Given the description of an element on the screen output the (x, y) to click on. 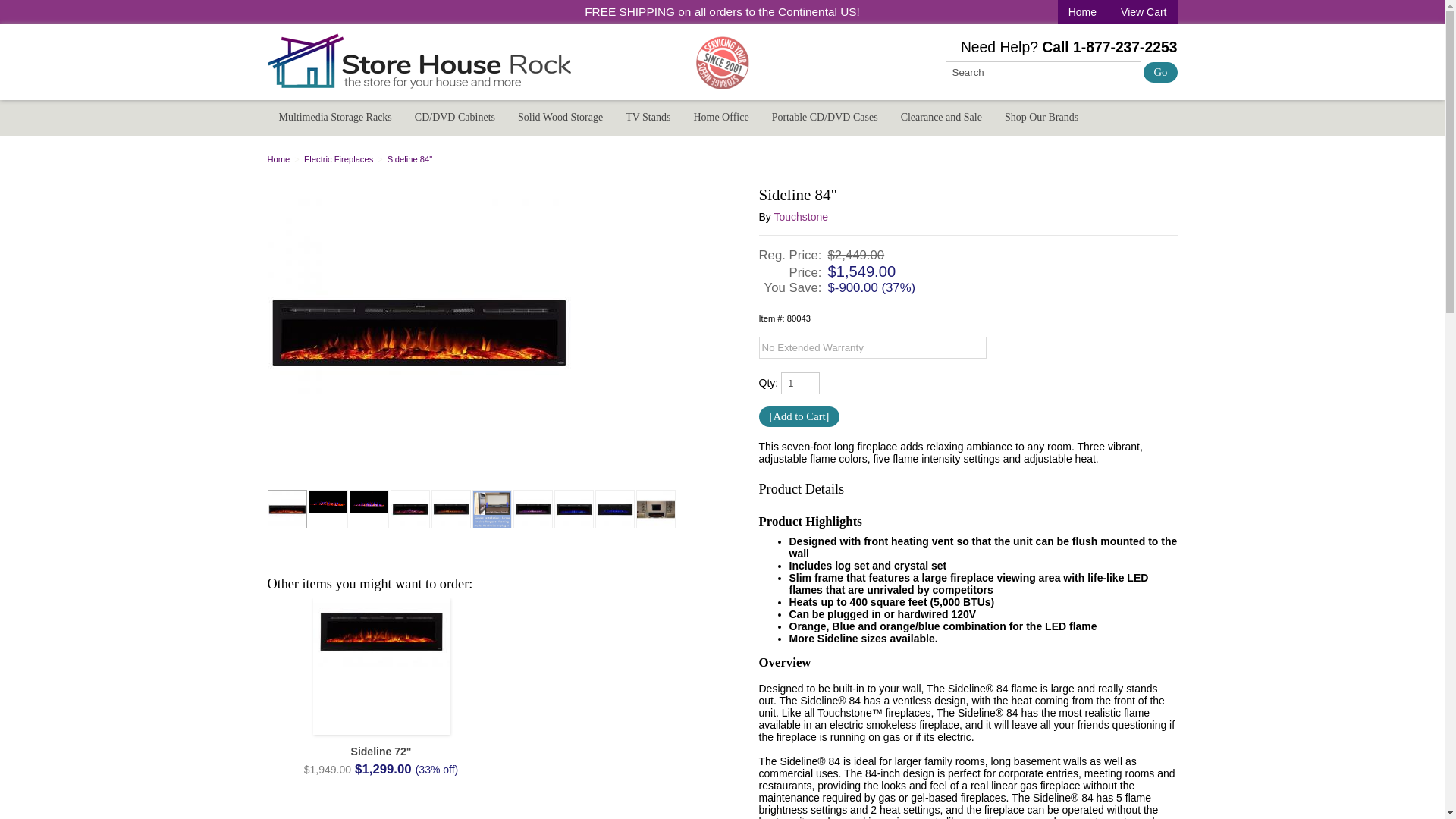
Home Office (720, 117)
Home (280, 158)
Go (1159, 72)
Multimedia Storage Racks (334, 117)
Search (1042, 72)
1 (799, 382)
Storehouse Rock (1082, 12)
Multimedia Storage Racks (334, 117)
View Cart (1141, 12)
Shop Our Brands (1040, 117)
View Cart (1141, 12)
Electric Fireplaces (340, 158)
TV Stands (647, 117)
Solid Wood Storage (560, 117)
Home Office (720, 117)
